Given the description of an element on the screen output the (x, y) to click on. 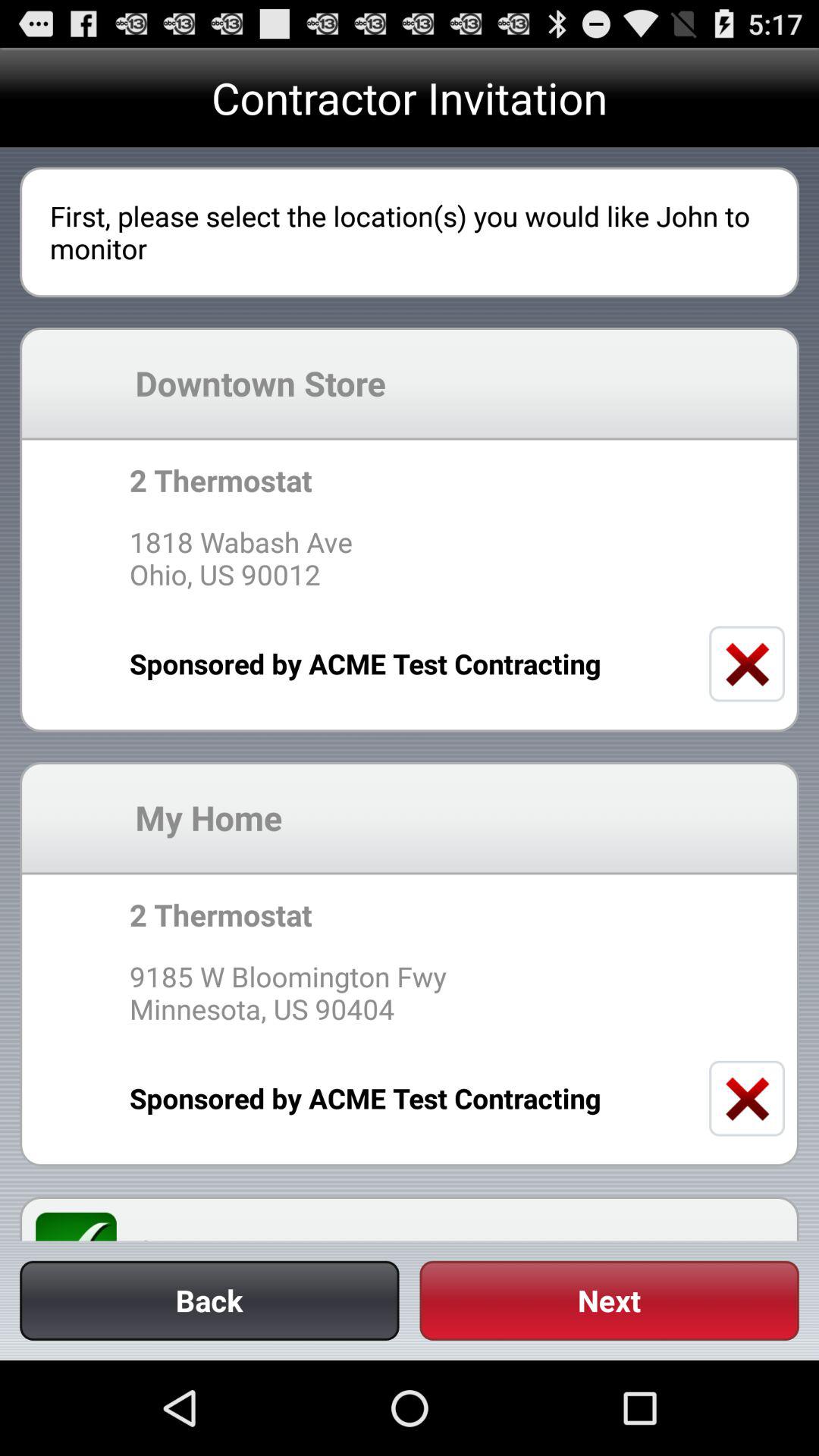
turn on icon next to the next button (209, 1300)
